Given the description of an element on the screen output the (x, y) to click on. 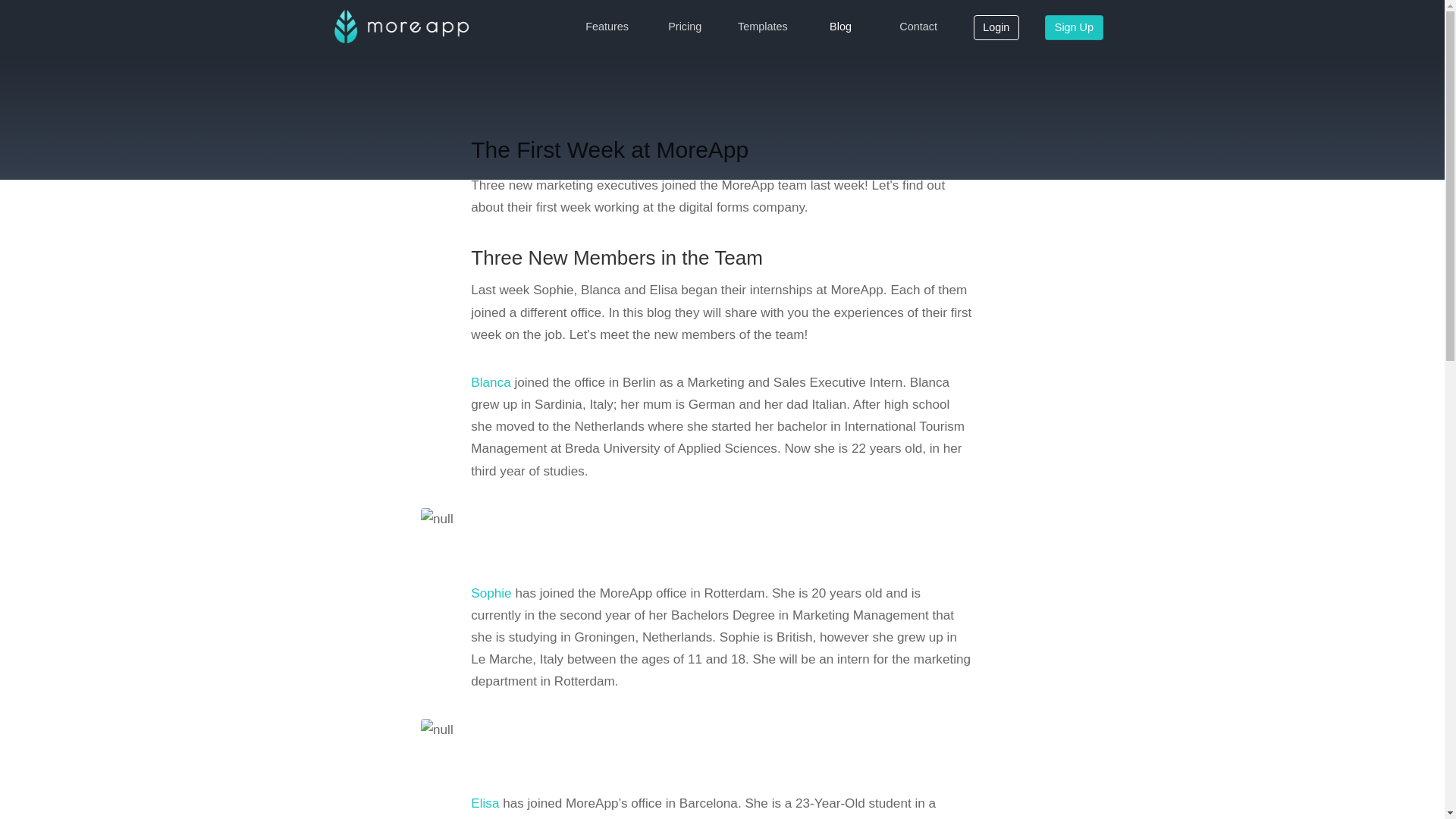
Blanca (490, 381)
Templates (762, 26)
Sign Up (1073, 27)
Pricing (684, 26)
Features (606, 26)
Contact (918, 26)
Elisa (484, 802)
Login (996, 27)
Sophie (490, 592)
Blog (840, 26)
